Given the description of an element on the screen output the (x, y) to click on. 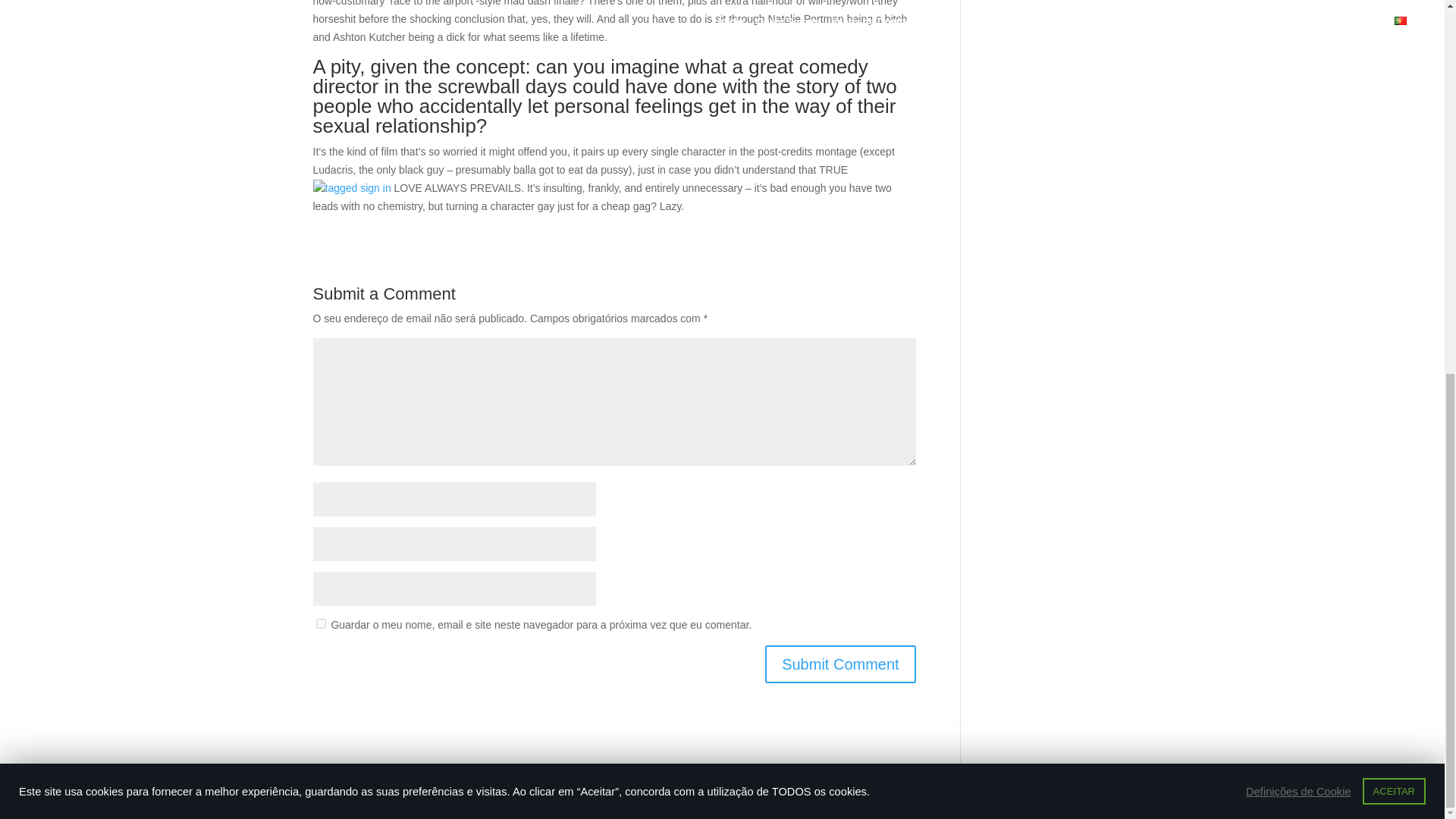
yes (319, 623)
ACEITAR (1393, 105)
Submit Comment (840, 664)
Submit Comment (840, 664)
